Given the description of an element on the screen output the (x, y) to click on. 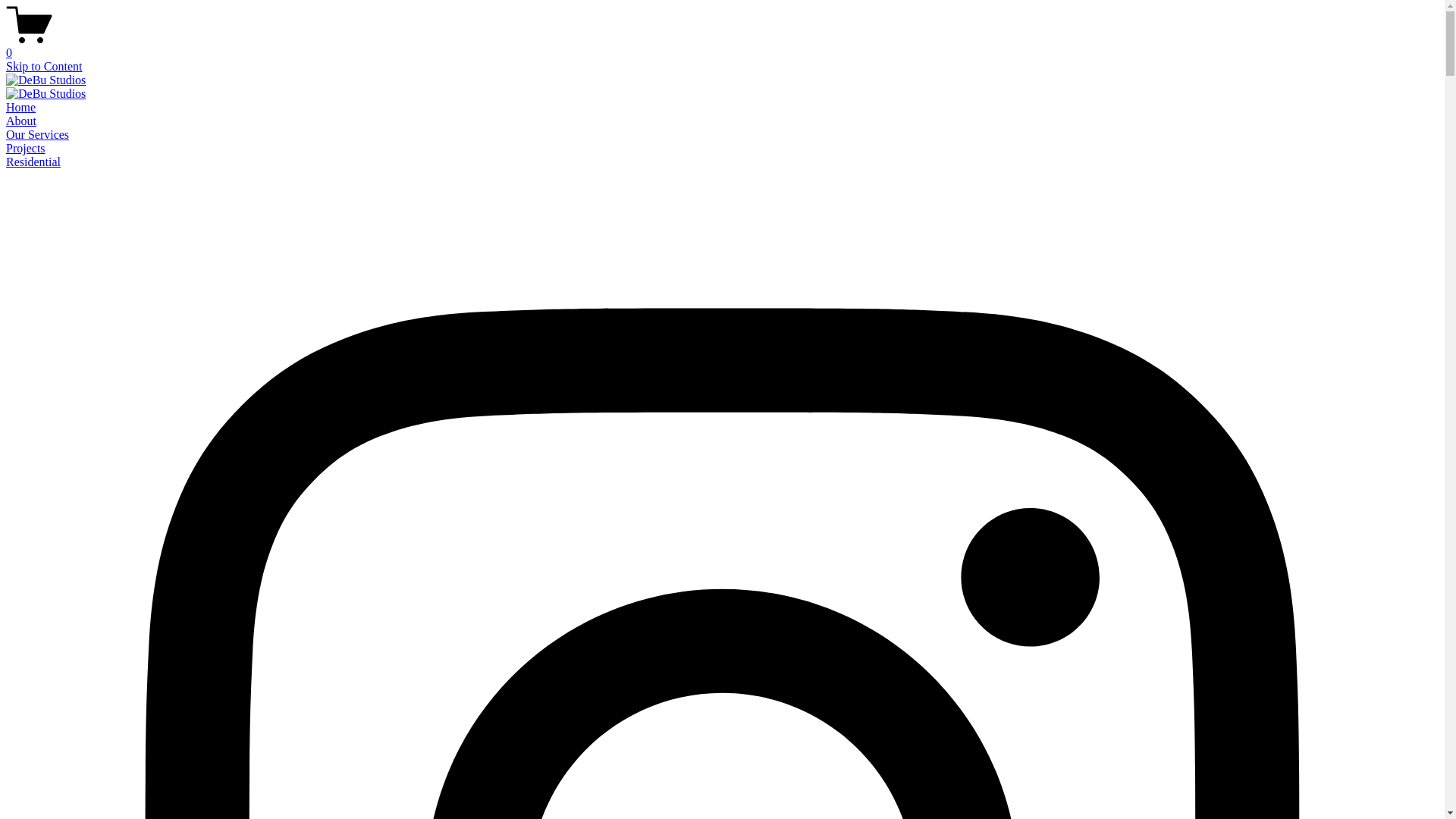
About Element type: text (21, 120)
Skip to Content Element type: text (43, 65)
Our Services Element type: text (37, 134)
Residential Element type: text (33, 161)
Home Element type: text (20, 106)
Projects Element type: text (25, 147)
0 Element type: text (722, 45)
